Given the description of an element on the screen output the (x, y) to click on. 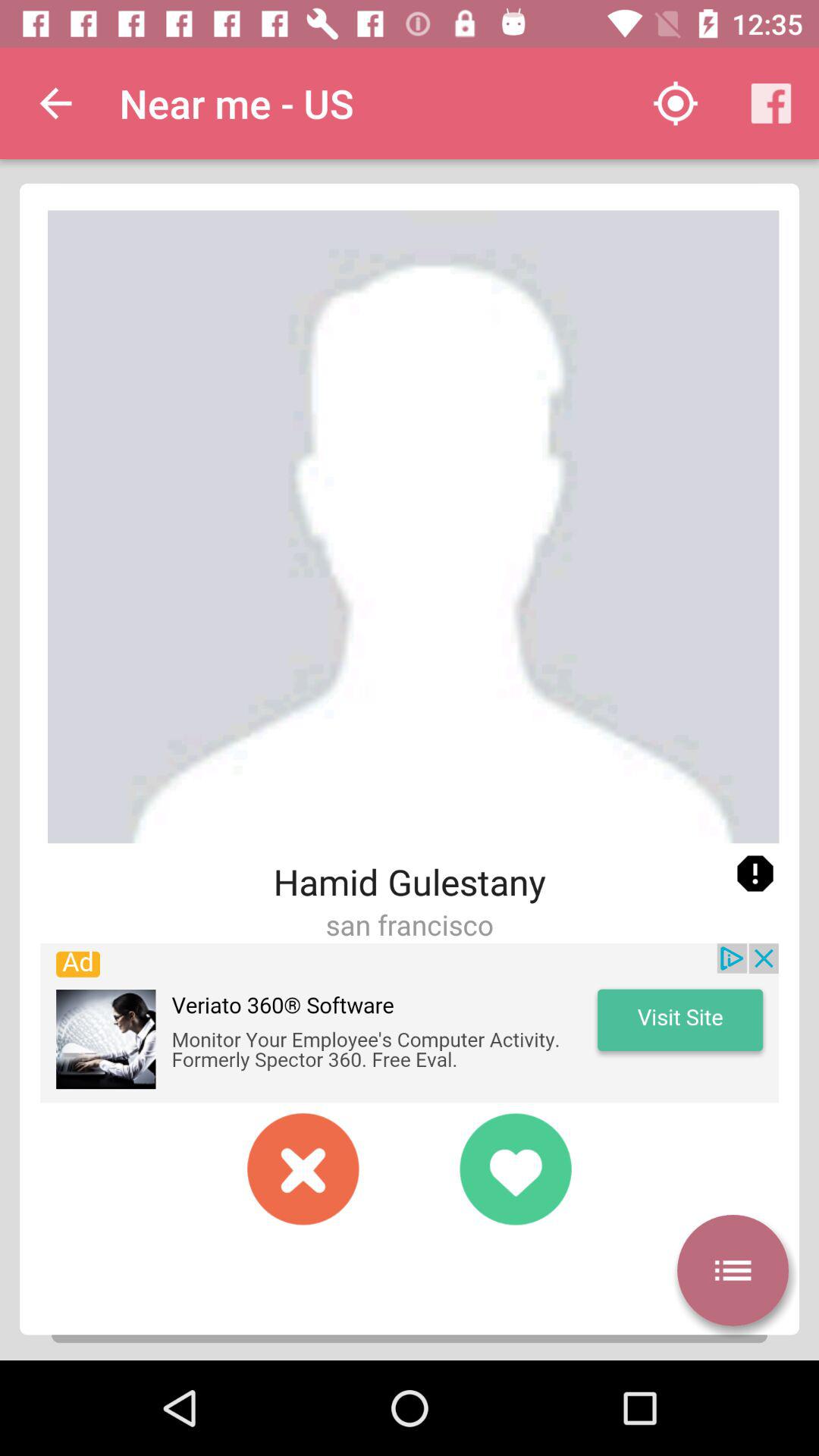
reject user (303, 1169)
